Given the description of an element on the screen output the (x, y) to click on. 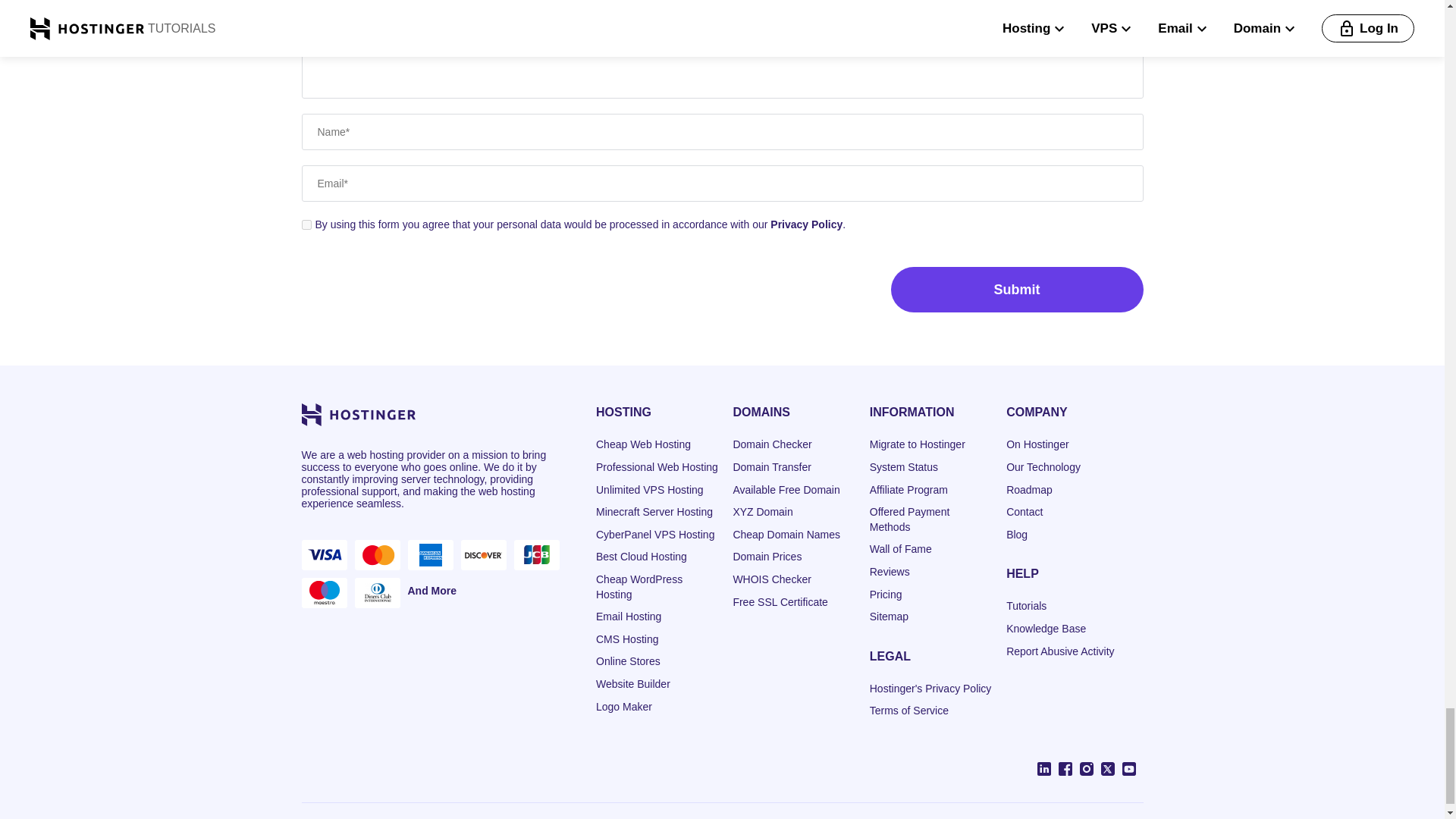
yes (306, 225)
Submit (1015, 289)
